Given the description of an element on the screen output the (x, y) to click on. 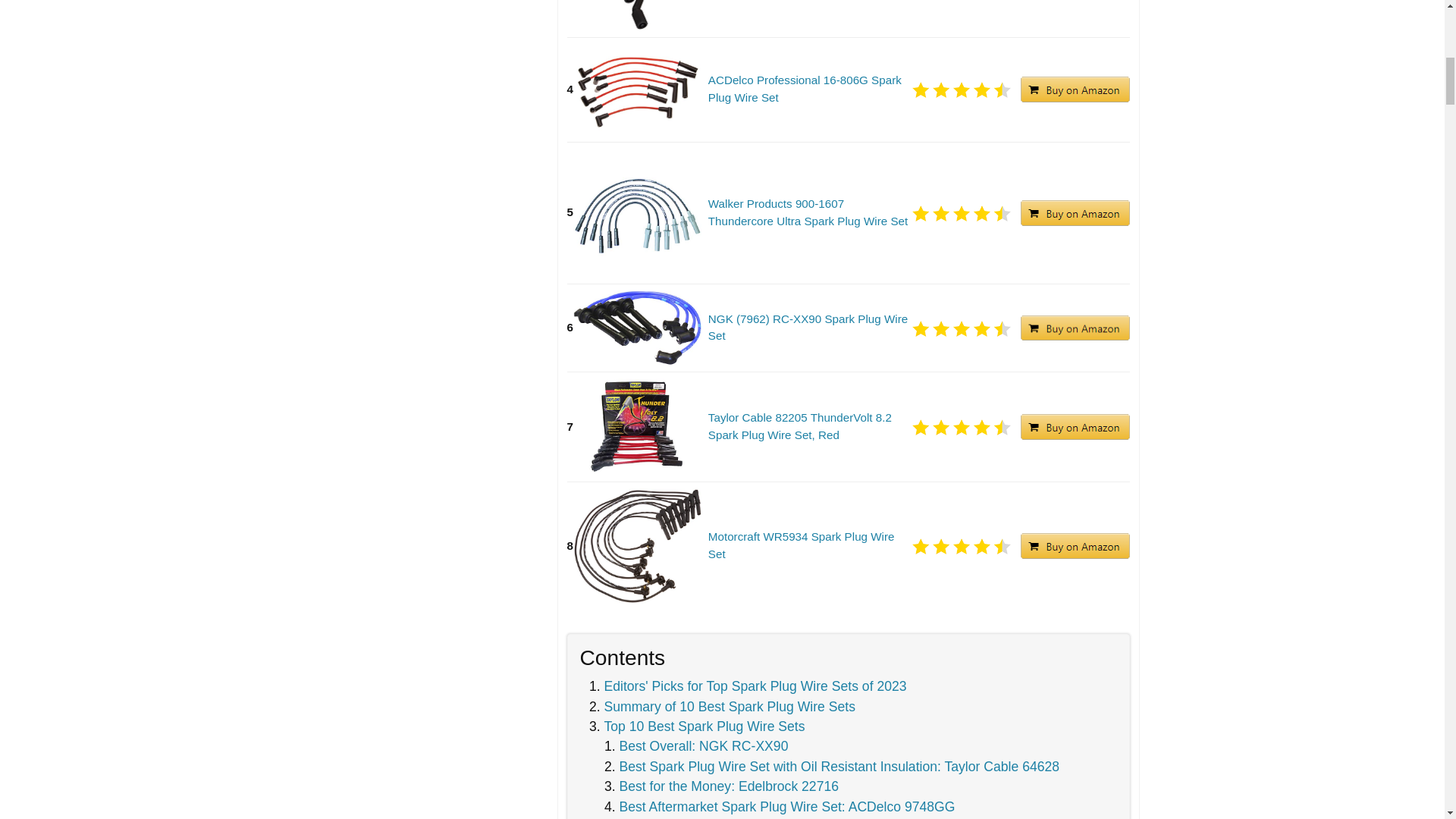
Taylor Cable 82205 ThunderVolt 8.2 Spark Plug Wire Set, Red (809, 426)
ACDelco Professional 16-806G Spark Plug Wire Set (809, 89)
Taylor Cable 82205 ThunderVolt 8.2 Spark Plug Wire Set, Red (809, 426)
Motorcraft WR5934 Spark Plug Wire Set (809, 545)
ACDelco Professional 16-806G Spark Plug Wire Set (809, 89)
